Given the description of an element on the screen output the (x, y) to click on. 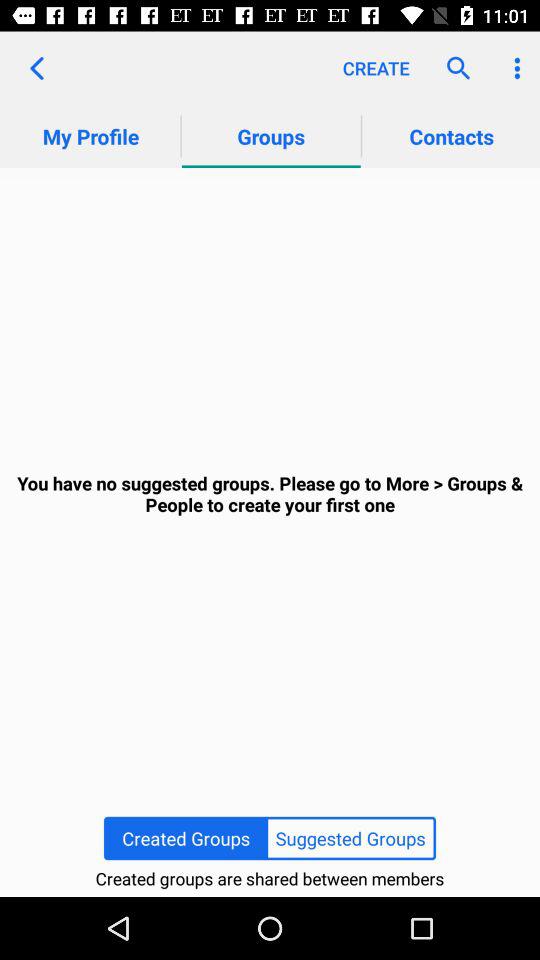
turn on item above the created groups radio button (270, 494)
